Given the description of an element on the screen output the (x, y) to click on. 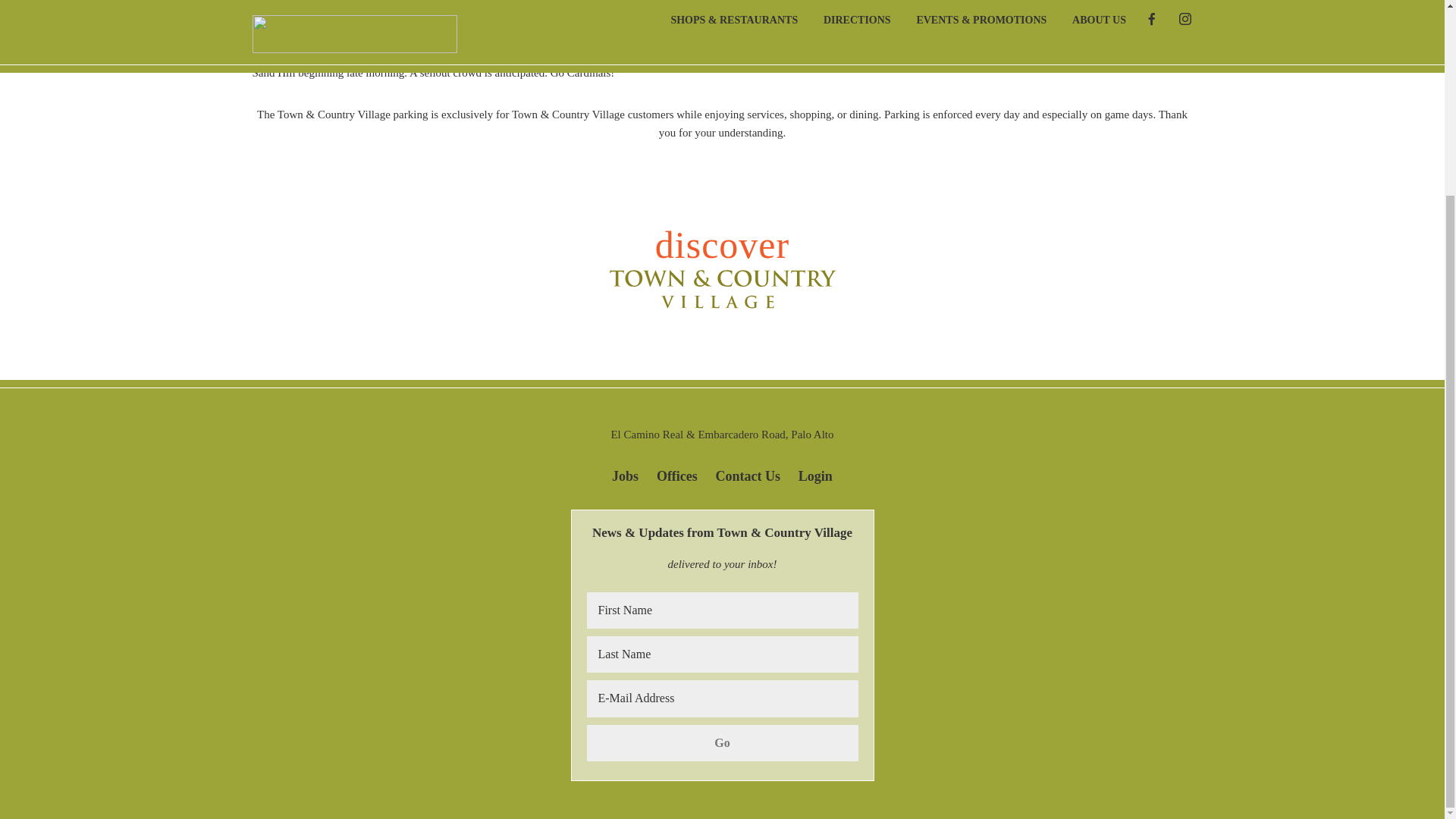
Go (722, 742)
Jobs (625, 468)
Offices (676, 468)
Go (722, 742)
Contact Us (748, 468)
Login (814, 468)
